Given the description of an element on the screen output the (x, y) to click on. 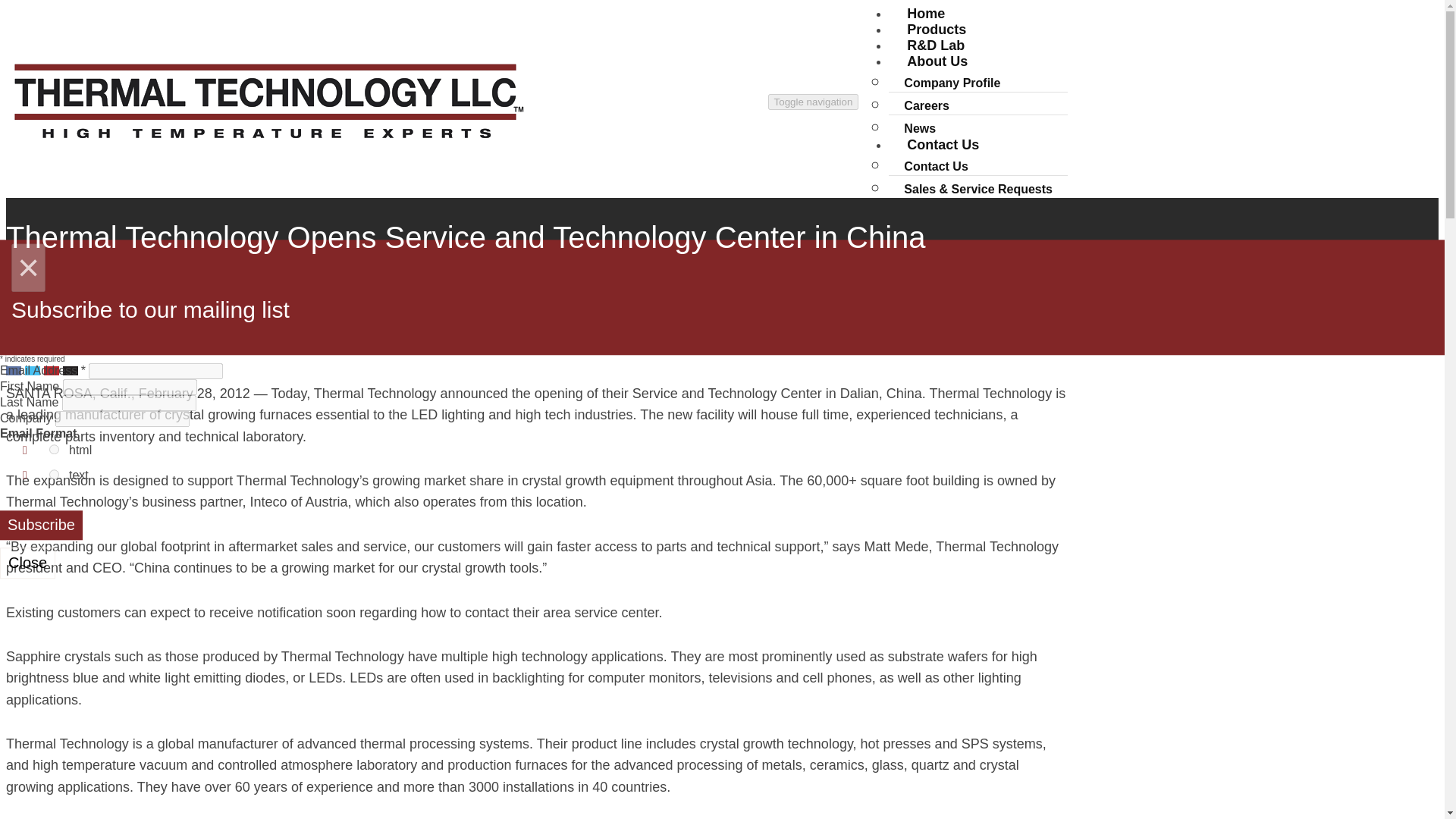
Contact Us (942, 144)
Products (936, 29)
Company Profile (951, 82)
Products (936, 29)
Home (925, 16)
News (320, 343)
Thermal Technology (268, 144)
News (919, 127)
Subscribe (41, 525)
News (919, 127)
About Us (936, 61)
Home (925, 16)
Careers (925, 105)
About Us (936, 61)
Contact Us (935, 166)
